Given the description of an element on the screen output the (x, y) to click on. 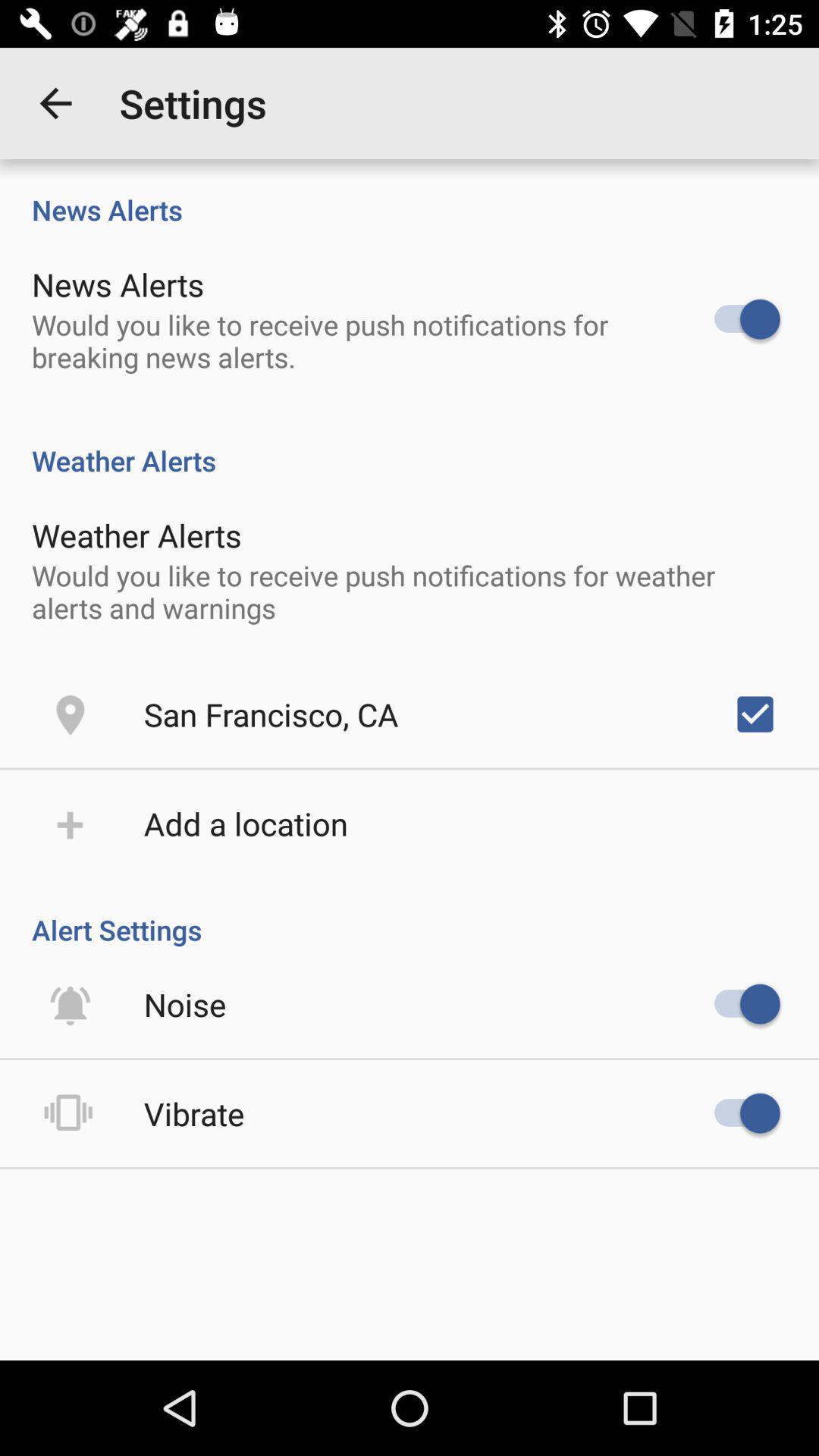
open the item next to the san francisco, ca (755, 714)
